Given the description of an element on the screen output the (x, y) to click on. 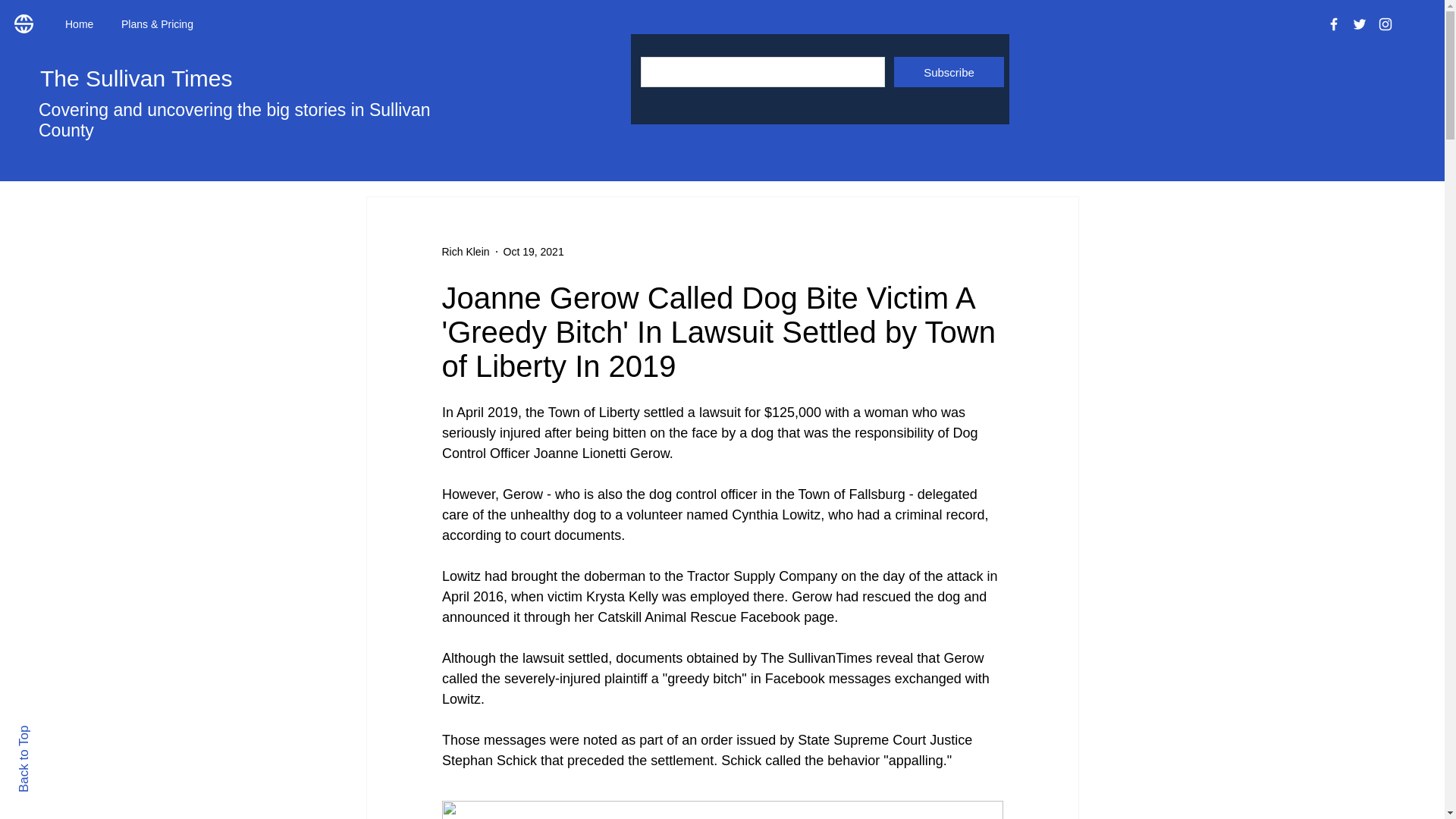
Home (81, 24)
The Sullivan Times (135, 78)
Subscribe (948, 71)
Oct 19, 2021 (533, 251)
Back to Top (50, 731)
Rich Klein (465, 252)
